Given the description of an element on the screen output the (x, y) to click on. 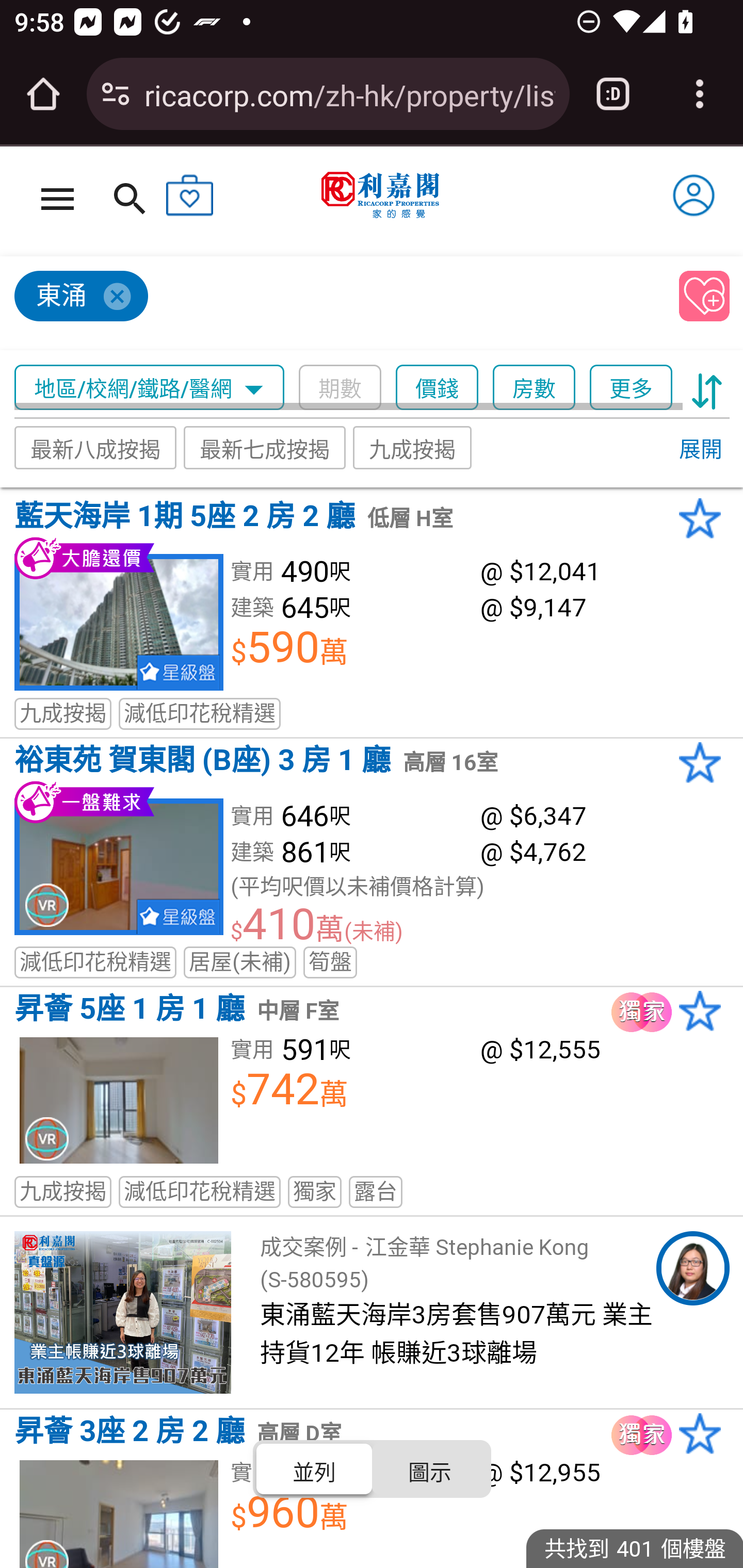
Open the home page (43, 93)
Connection is secure (115, 93)
Switch or close tabs (612, 93)
Customize and control Google Chrome (699, 93)
